Given the description of an element on the screen output the (x, y) to click on. 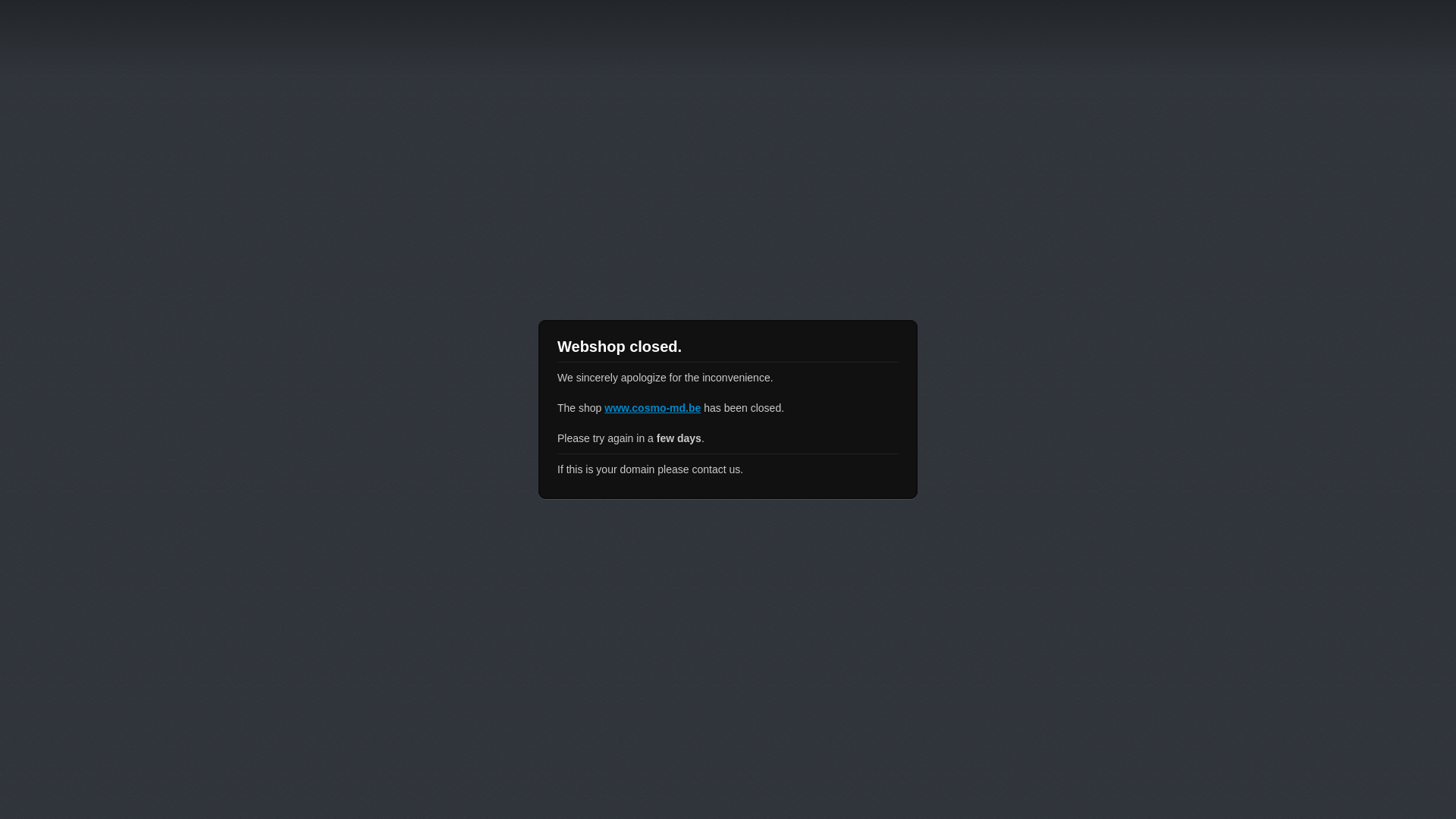
www.cosmo-md.be Element type: text (652, 407)
